Given the description of an element on the screen output the (x, y) to click on. 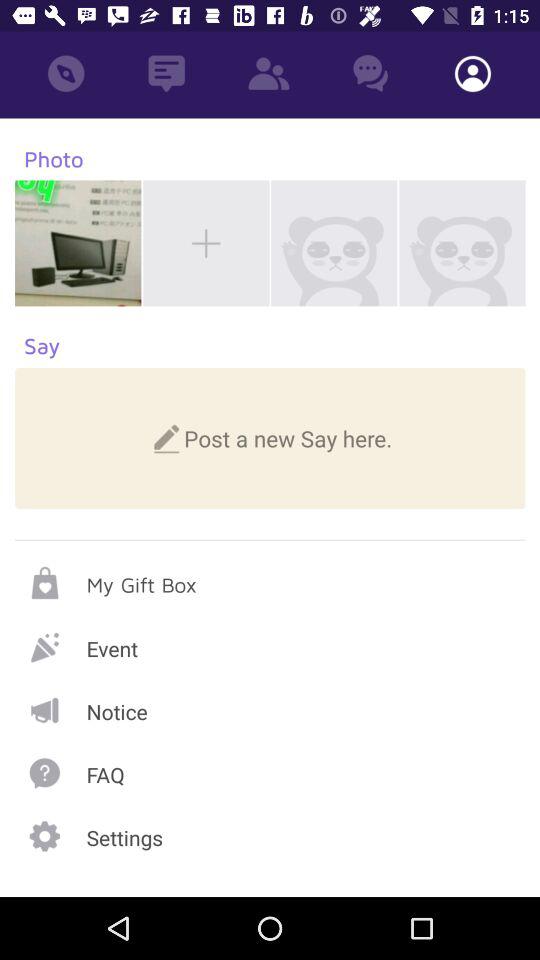
faq (270, 772)
